Given the description of an element on the screen output the (x, y) to click on. 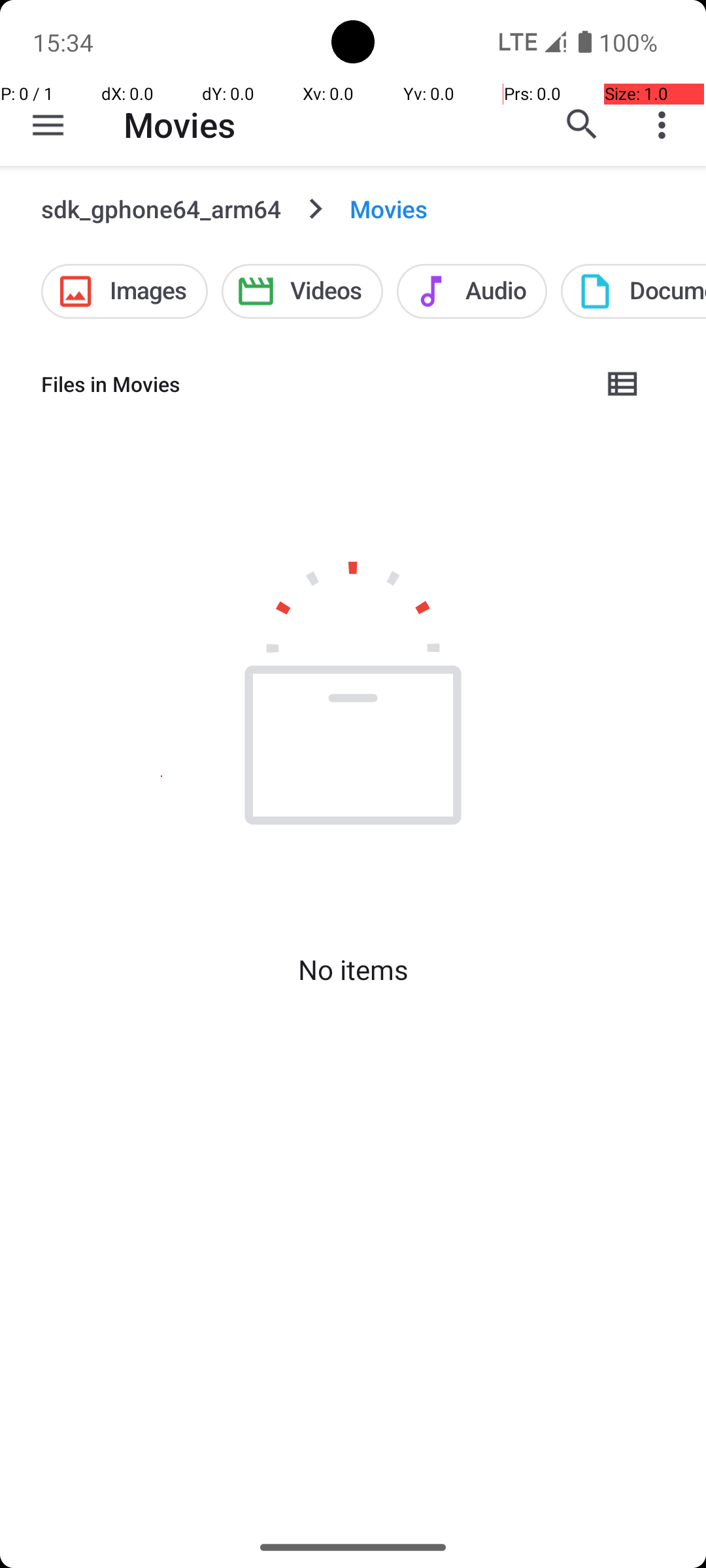
Files in Movies Element type: android.widget.TextView (311, 383)
